Given the description of an element on the screen output the (x, y) to click on. 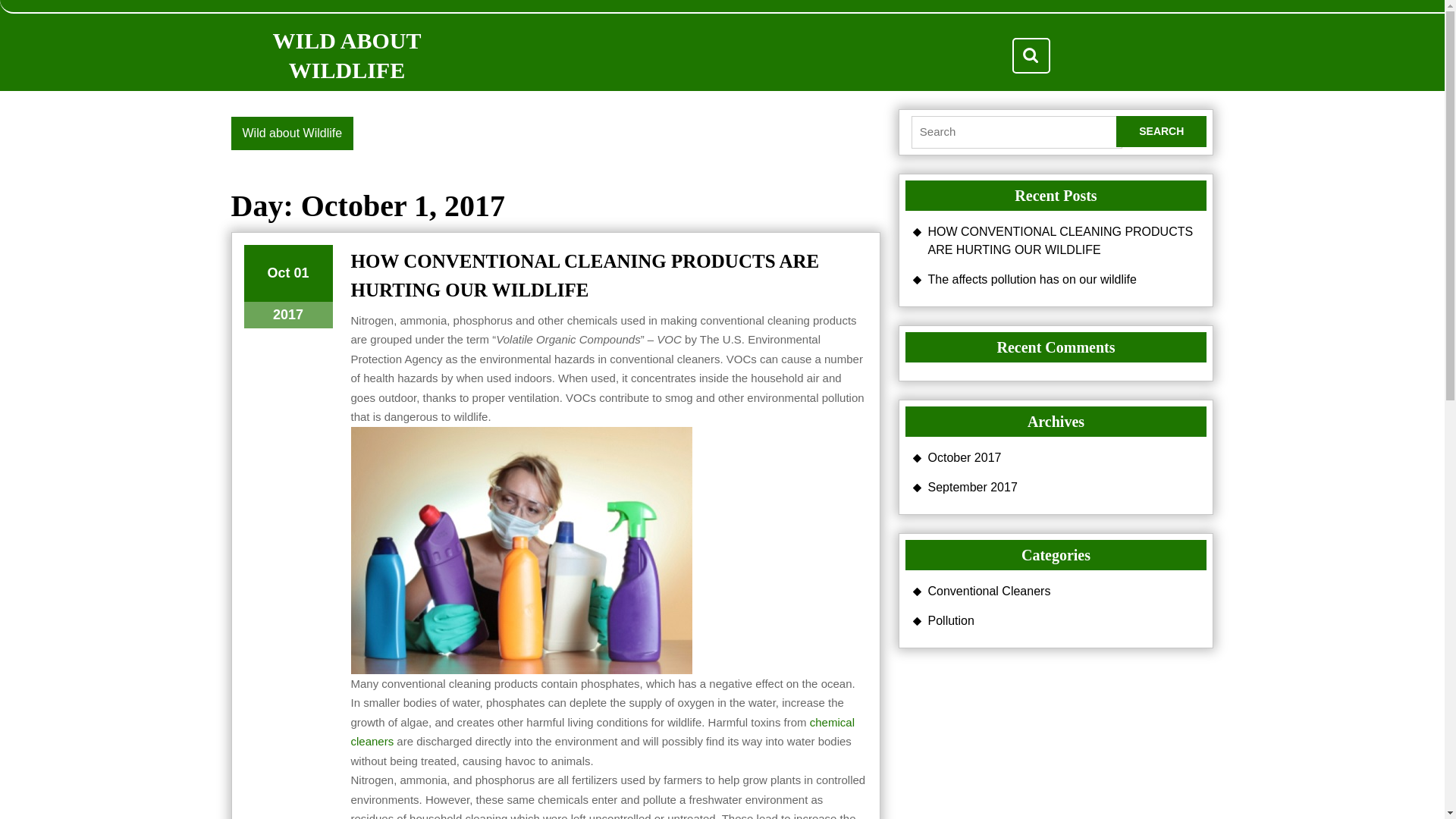
Search (1161, 131)
The affects pollution has on our wildlife (1032, 278)
WILD ABOUT WILDLIFE (347, 54)
chemical cleaners (601, 731)
Search (1030, 55)
HOW CONVENTIONAL CLEANING PRODUCTS ARE HURTING OUR WILDLIFE (1060, 239)
October 2017 (964, 456)
HOW CONVENTIONAL CLEANING PRODUCTS ARE HURTING OUR WILDLIFE (584, 275)
September 2017 (972, 486)
Pollution (951, 620)
Conventional Cleaners (989, 590)
Search (1161, 131)
Wild about Wildlife (291, 133)
Search (287, 272)
